Given the description of an element on the screen output the (x, y) to click on. 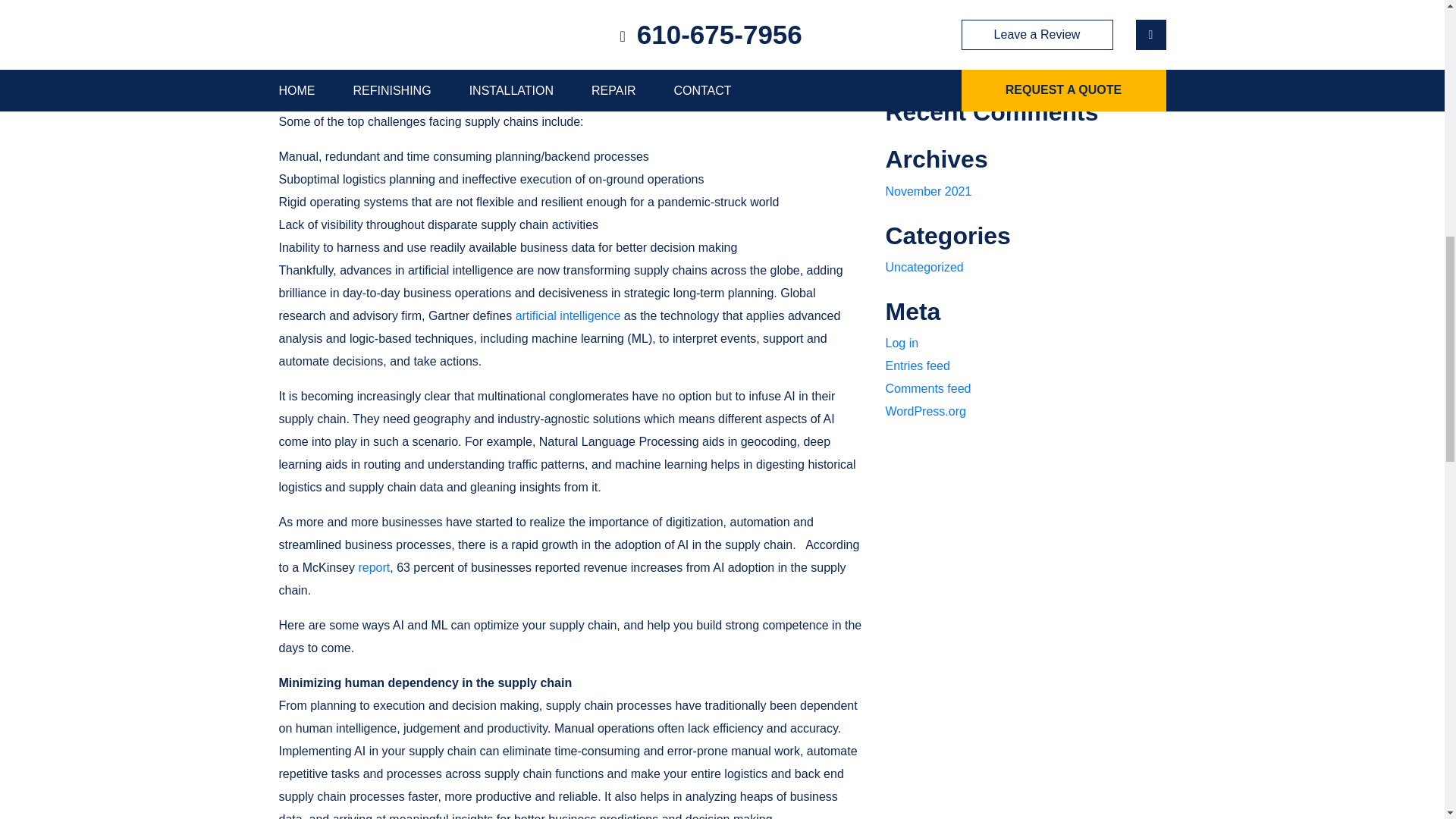
Comments feed (928, 388)
artificial intelligence (568, 315)
Entries feed (917, 365)
WordPress.org (925, 410)
Logistics contributes to increasing the value of a firm (1014, 56)
Tech In Logistics: Part 2- Exceeding Customer Expectations (1009, 14)
report (374, 567)
Uncategorized (924, 267)
November 2021 (928, 191)
Log in (901, 342)
